Given the description of an element on the screen output the (x, y) to click on. 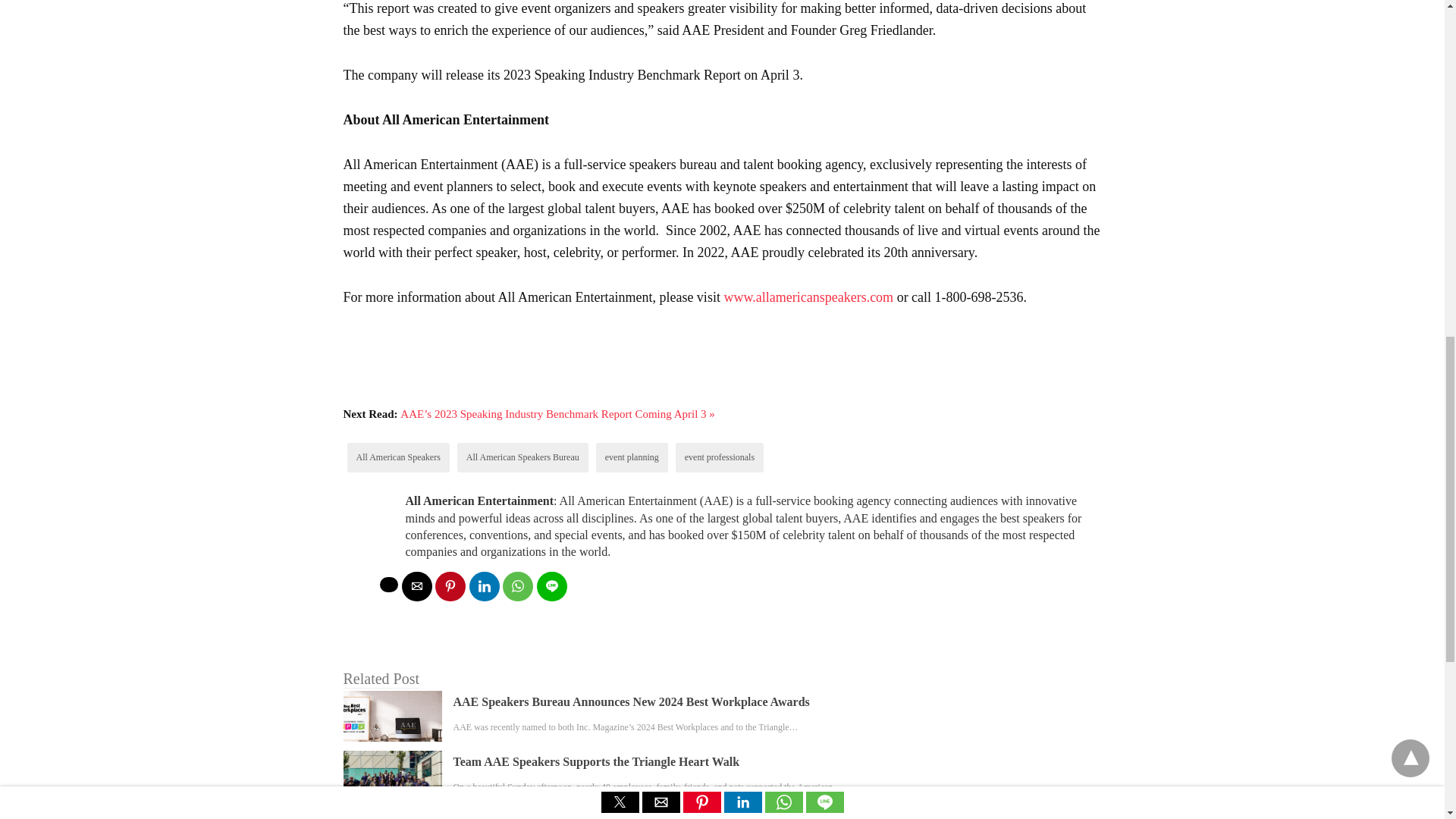
event planning (632, 457)
mailto (416, 586)
AddThis Website Tools (577, 381)
whatsapp share (517, 586)
event professionals (719, 457)
AAE Speakers Bureau Announces New 2024 Best Workplace Awards (630, 701)
www.allamericanspeakers.com (809, 296)
linkedin share (483, 586)
All American Speakers (398, 457)
line share (552, 586)
